Given the description of an element on the screen output the (x, y) to click on. 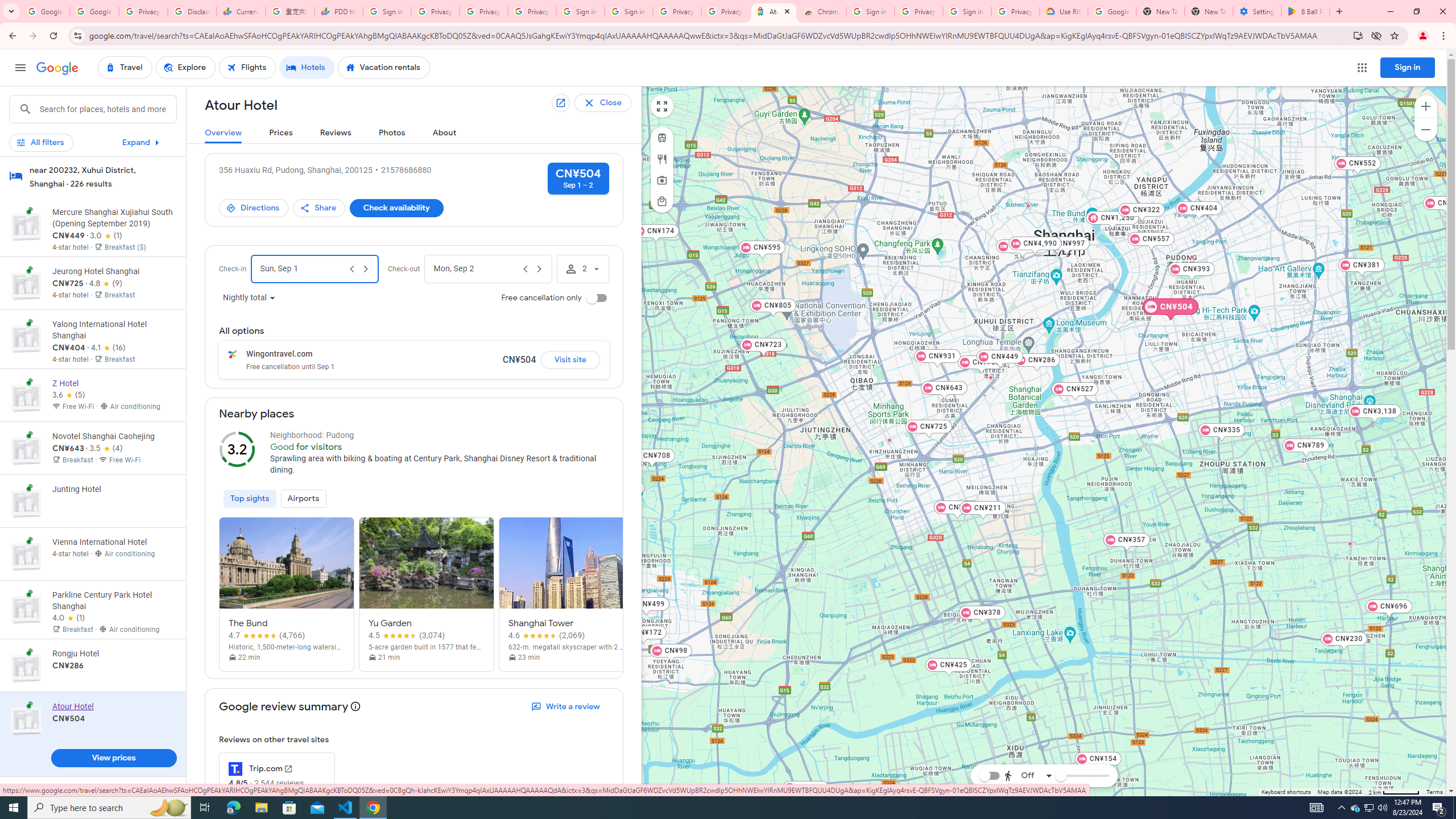
Number of travelers. Current number of travelers is 2. (582, 268)
Top sights (250, 498)
Search for places, hotels and more (107, 108)
Reviews (335, 133)
Off (1027, 775)
Open in new tab (560, 103)
